Given the description of an element on the screen output the (x, y) to click on. 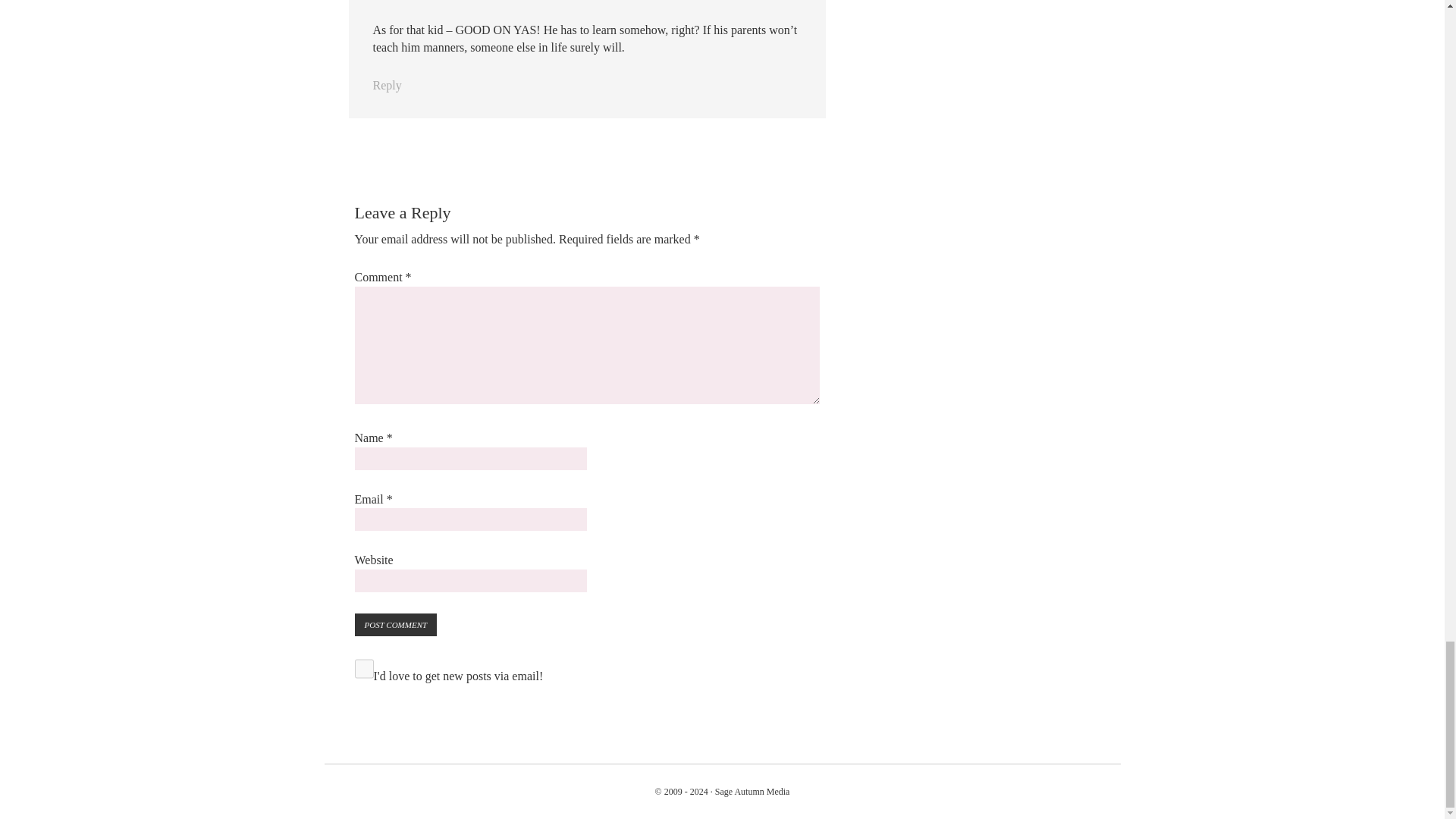
Post Comment (396, 624)
Reply (386, 84)
Post Comment (396, 624)
